Given the description of an element on the screen output the (x, y) to click on. 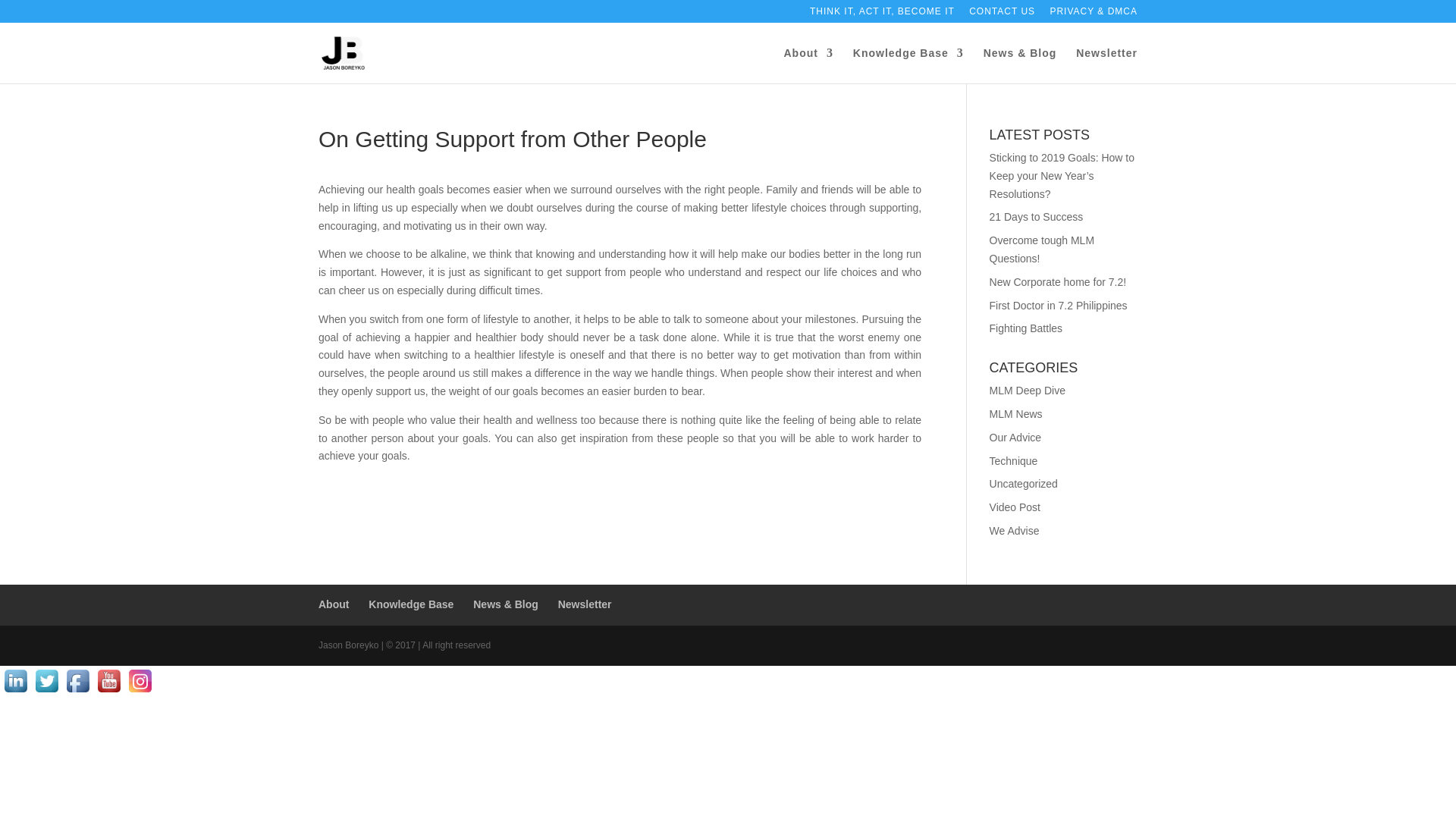
We Advise (1014, 530)
Technique (1014, 460)
Newsletter (1106, 65)
MLM Deep Dive (1027, 390)
About (807, 65)
Fighting Battles (1026, 328)
THINK IT, ACT IT, BECOME IT (882, 14)
First Doctor in 7.2 Philippines (1058, 305)
21 Days to Success (1036, 216)
Video Post (1015, 507)
